Given the description of an element on the screen output the (x, y) to click on. 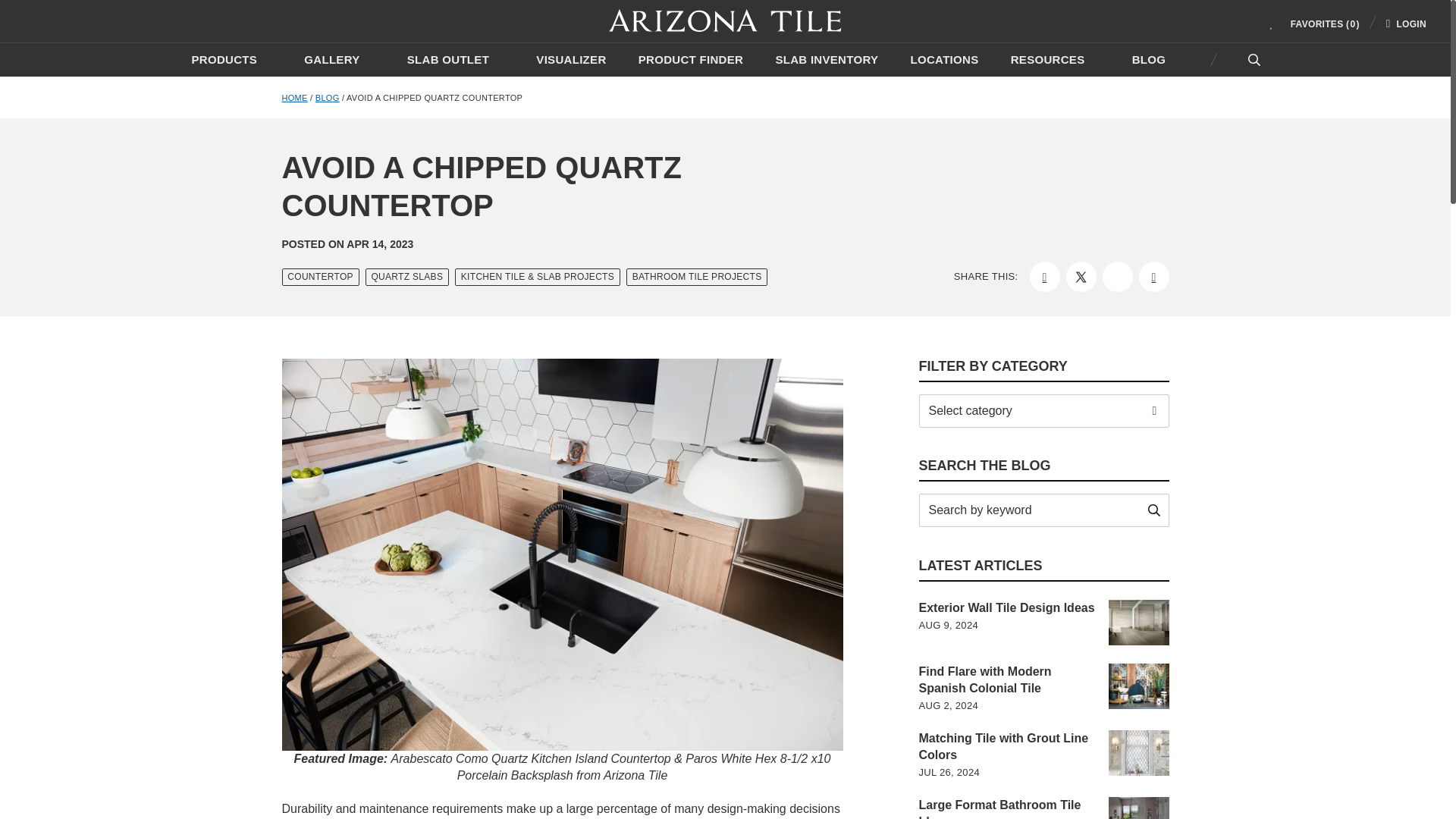
LOGIN (1406, 23)
PRODUCTS (232, 59)
Favorites (1302, 22)
